Given the description of an element on the screen output the (x, y) to click on. 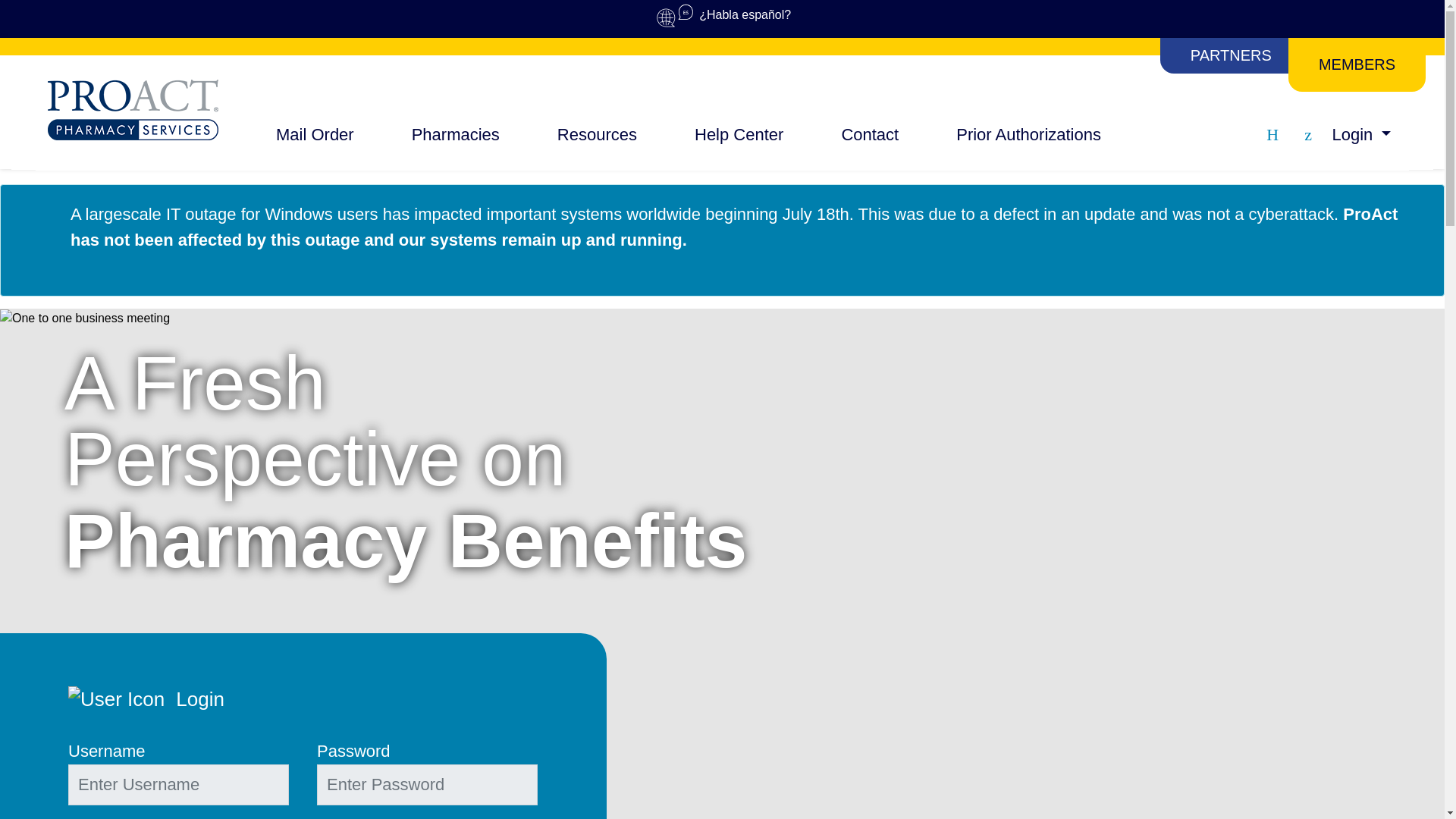
PARTNERS (1233, 55)
Contact (869, 134)
Pharmacies (455, 134)
Resources (596, 135)
Pharmacies (455, 134)
Notifications (1272, 134)
Mail Order (314, 134)
Contact (869, 134)
Login (1360, 135)
MEMBERS (1356, 64)
Member Portal (1308, 134)
Resources (596, 135)
Help Center (738, 134)
Prior Authorizations (1028, 134)
Prior Authorizations (1028, 134)
